Given the description of an element on the screen output the (x, y) to click on. 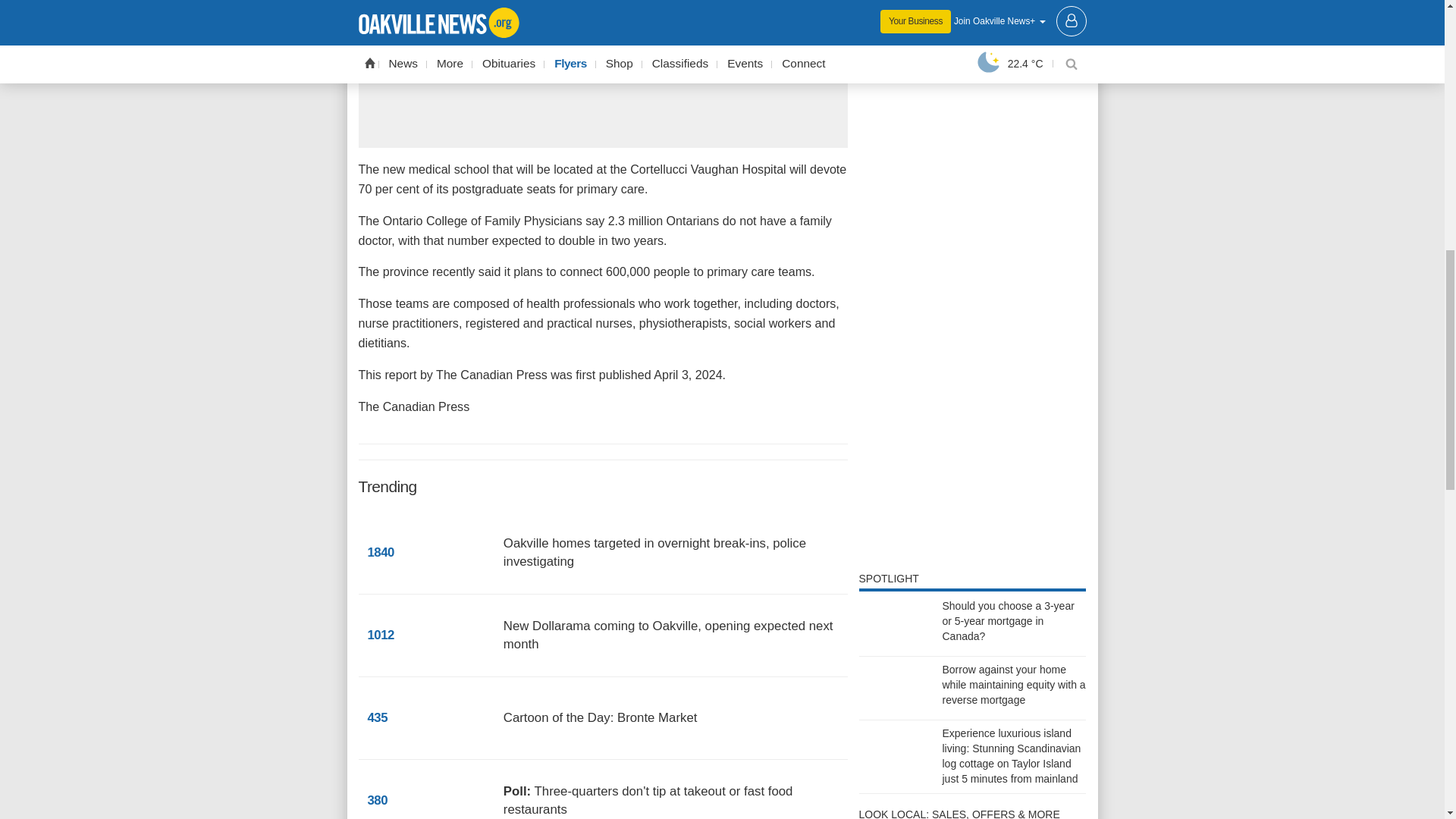
3rd party ad content (972, 357)
3rd party ad content (972, 511)
3rd party ad content (972, 152)
3rd party ad content (972, 21)
3rd party ad content (602, 71)
